Given the description of an element on the screen output the (x, y) to click on. 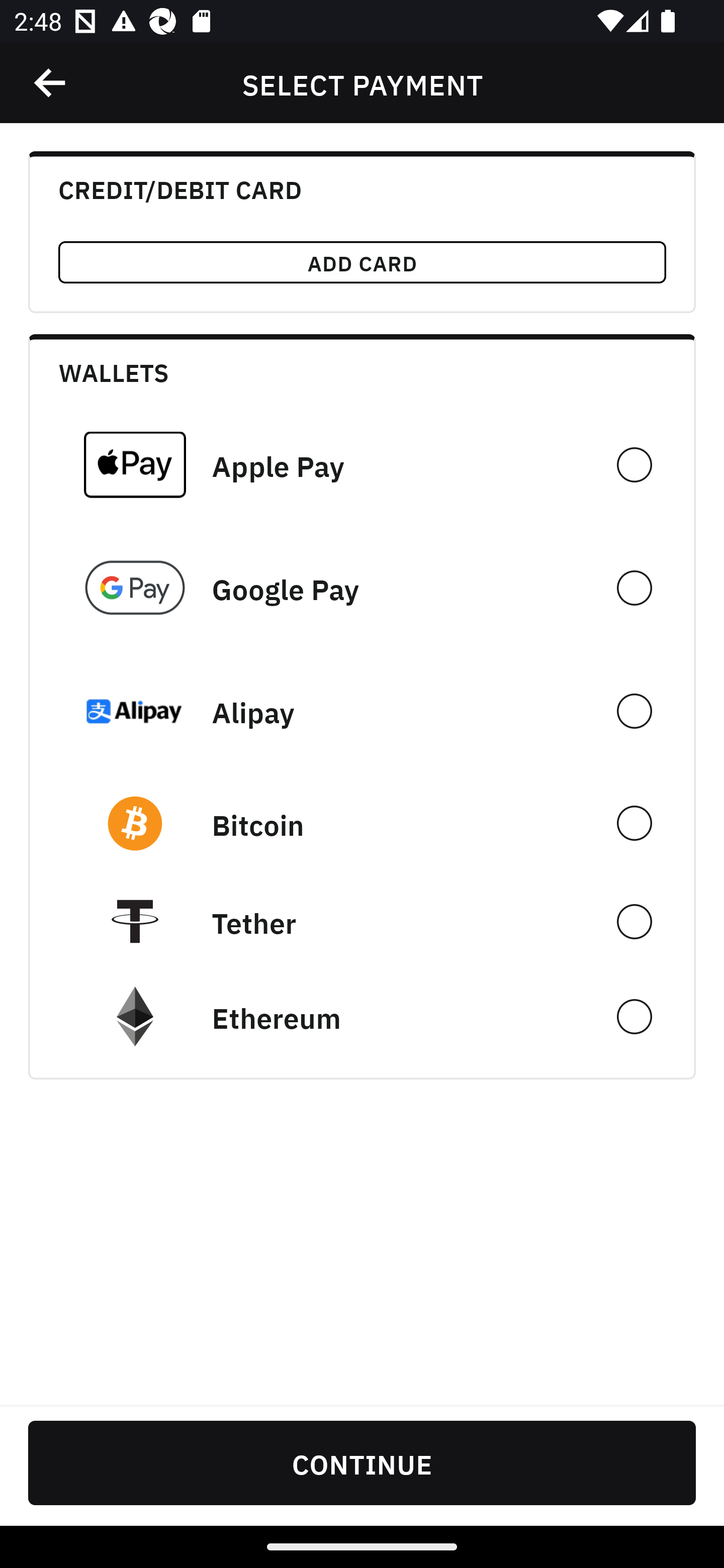
 (50, 83)
ADD CARD (362, 262)
Apple Pay (362, 464)
Google Pay (362, 587)
Alipay (362, 711)
󰠓 Bitcoin (362, 823)
Tether (362, 921)
Ethereum (362, 1016)
CONTINUE (361, 1462)
